Given the description of an element on the screen output the (x, y) to click on. 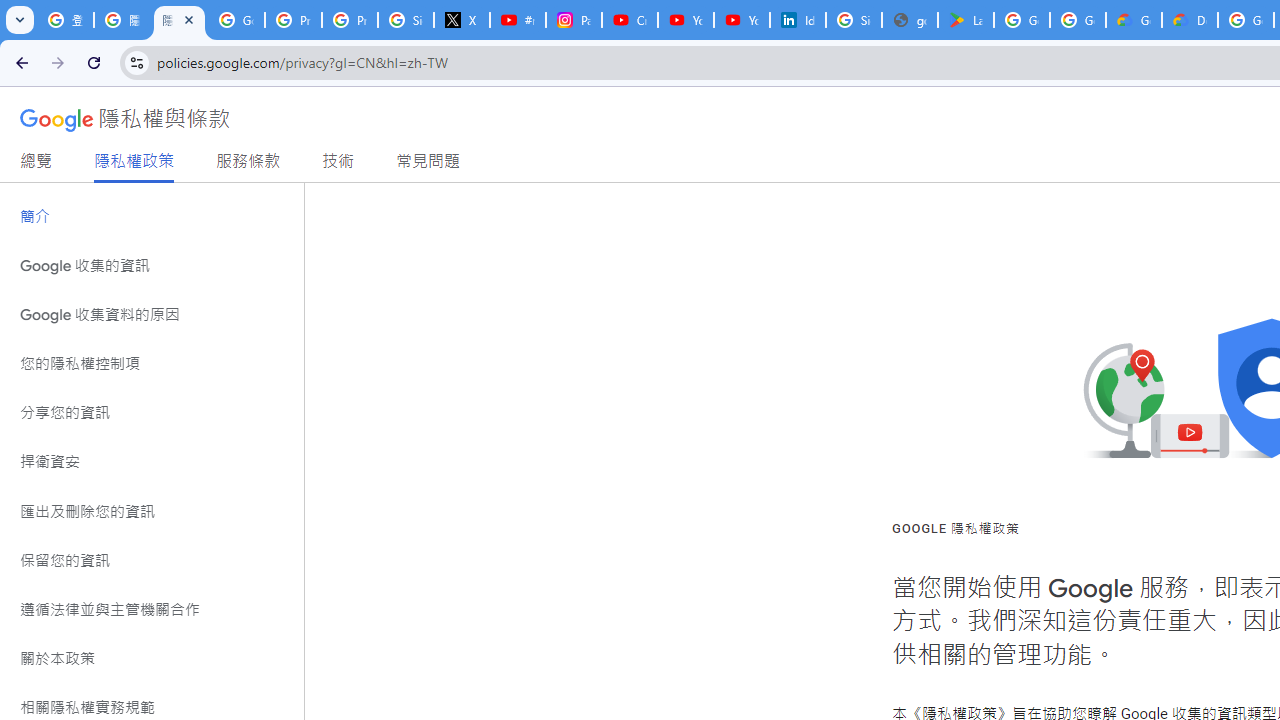
Privacy Help Center - Policies Help (349, 20)
X (461, 20)
Last Shelter: Survival - Apps on Google Play (966, 20)
